Given the description of an element on the screen output the (x, y) to click on. 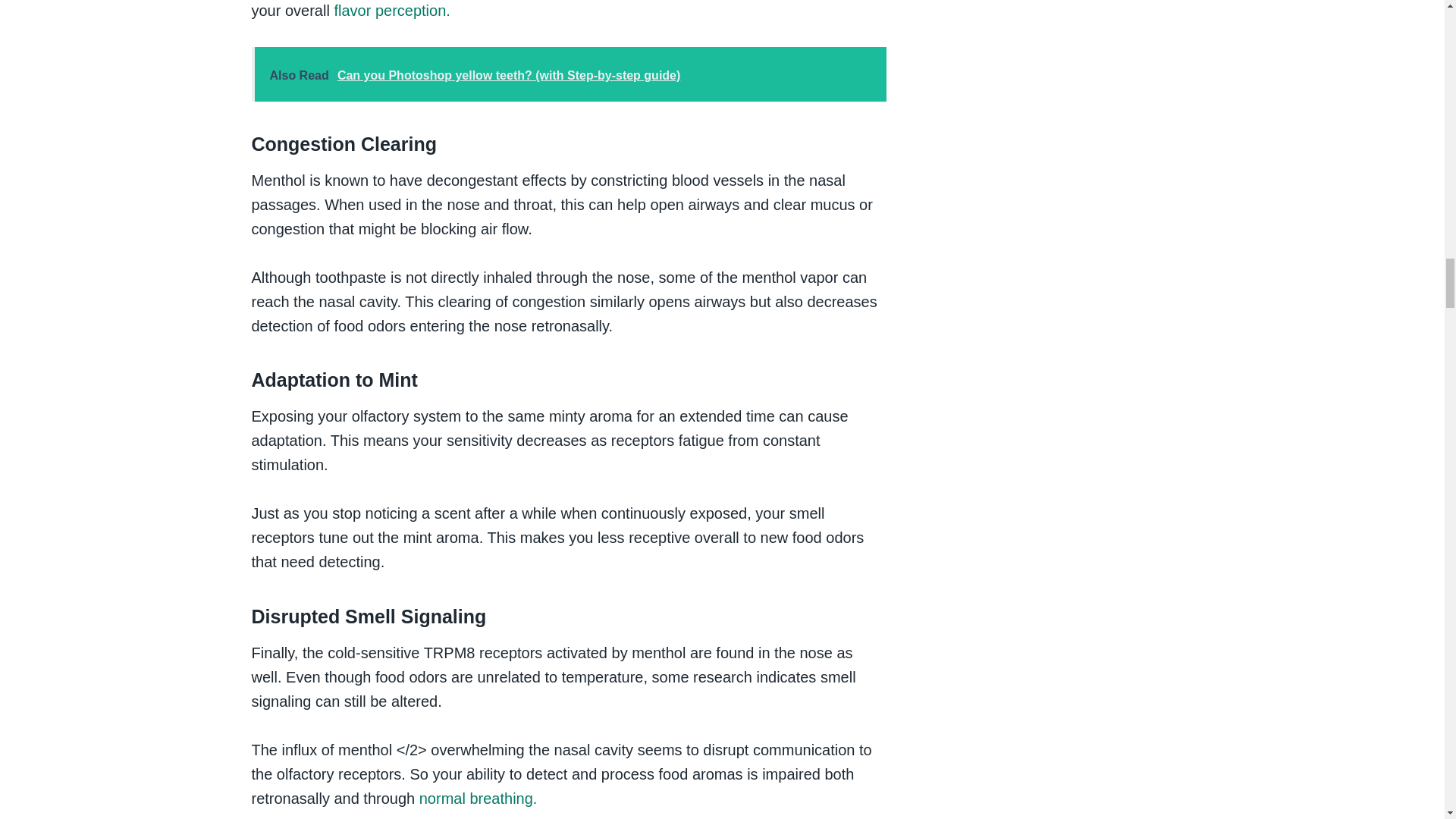
flavor perception. (389, 10)
normal breathing. (478, 798)
